Given the description of an element on the screen output the (x, y) to click on. 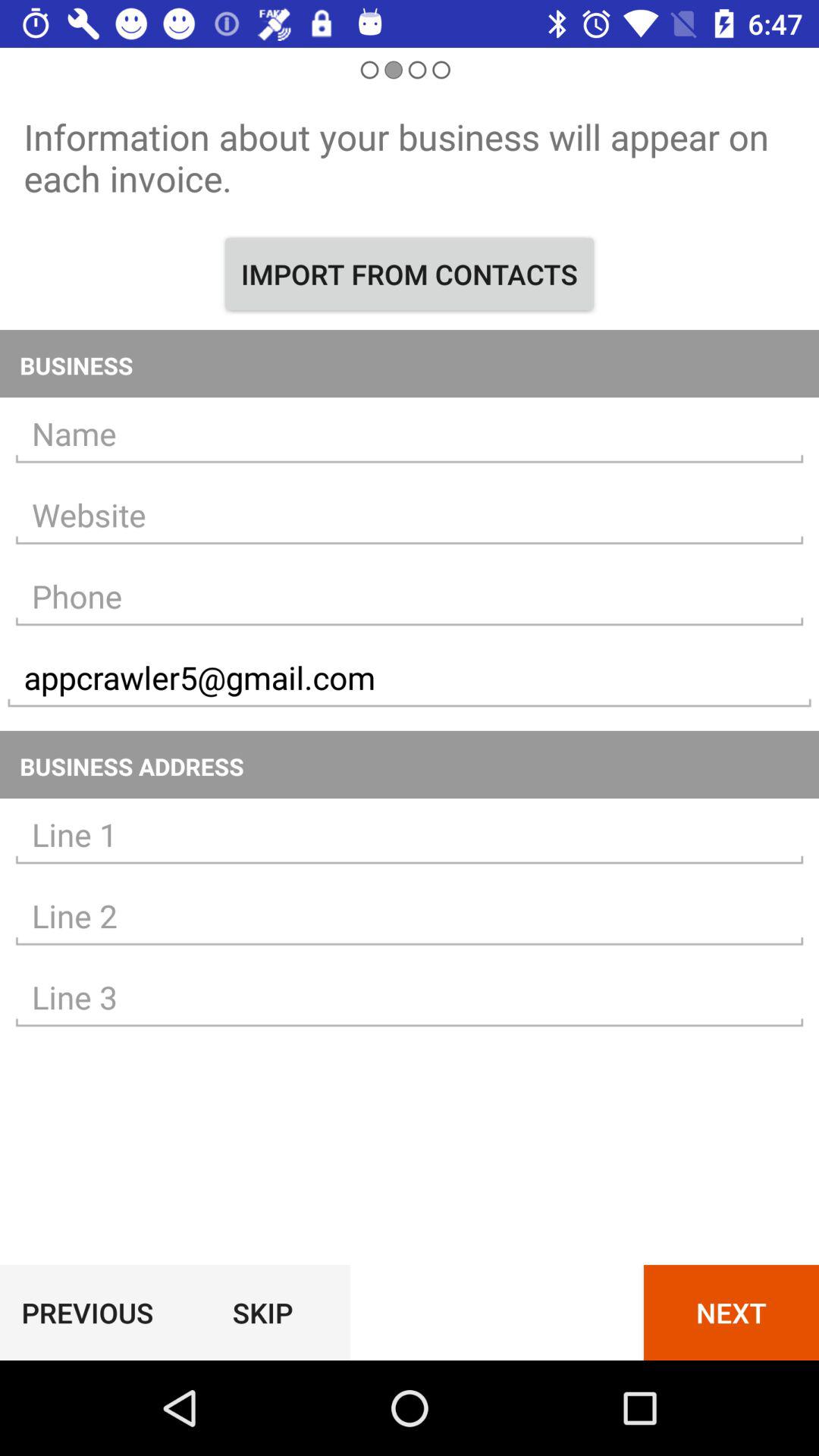
turn off item next to the previous icon (262, 1312)
